Given the description of an element on the screen output the (x, y) to click on. 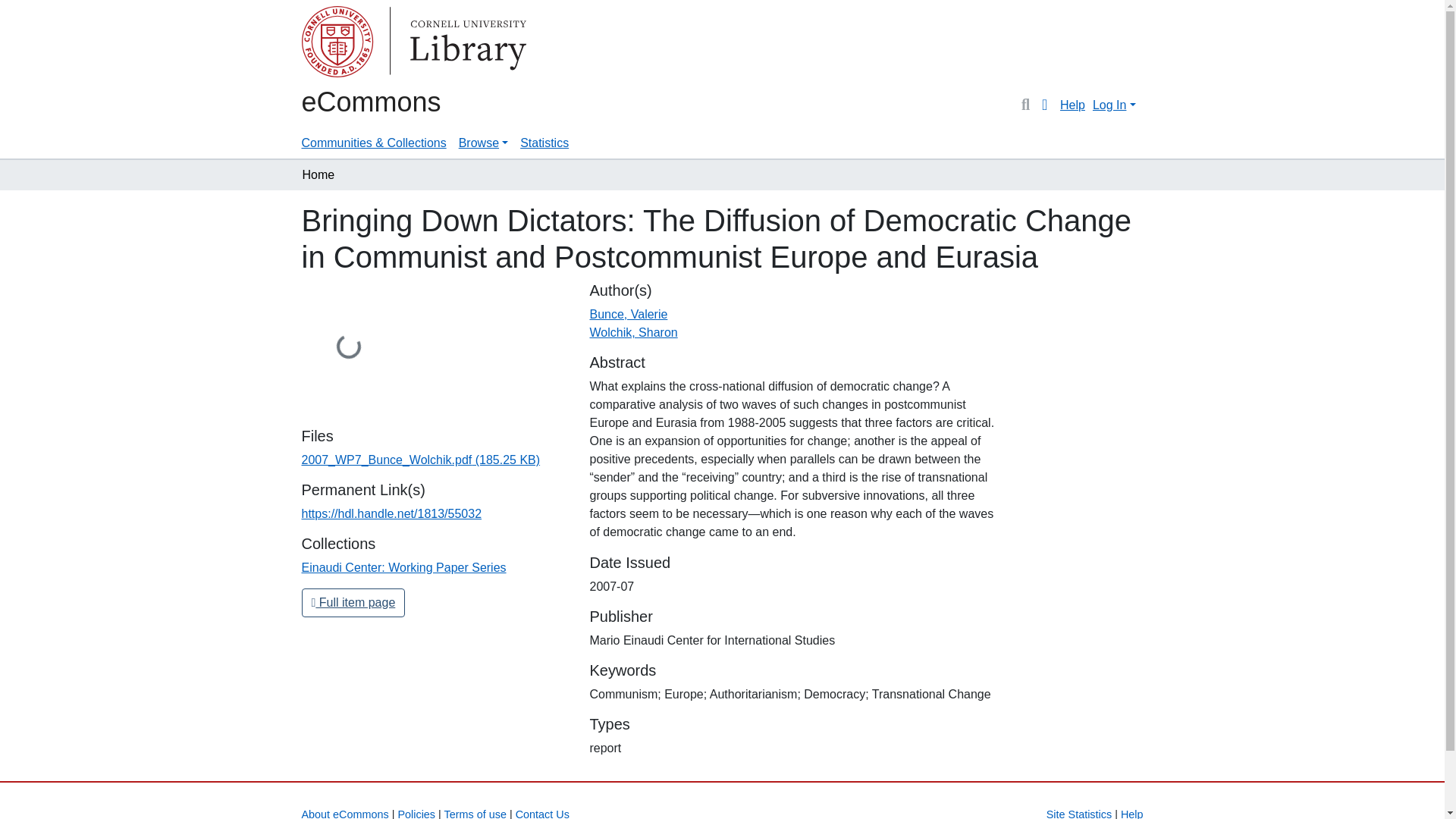
Library (362, 43)
Cornell University (339, 43)
Help (1071, 104)
Wolchik, Sharon (633, 332)
Policies (416, 813)
Site Statistics (1079, 813)
Log In (1113, 104)
Browse (482, 142)
Contact Us (542, 813)
Full item page (353, 602)
Statistics (544, 142)
Search (1025, 105)
Einaudi Center: Working Paper Series (403, 567)
Language switch (1044, 105)
Statistics (544, 142)
